Given the description of an element on the screen output the (x, y) to click on. 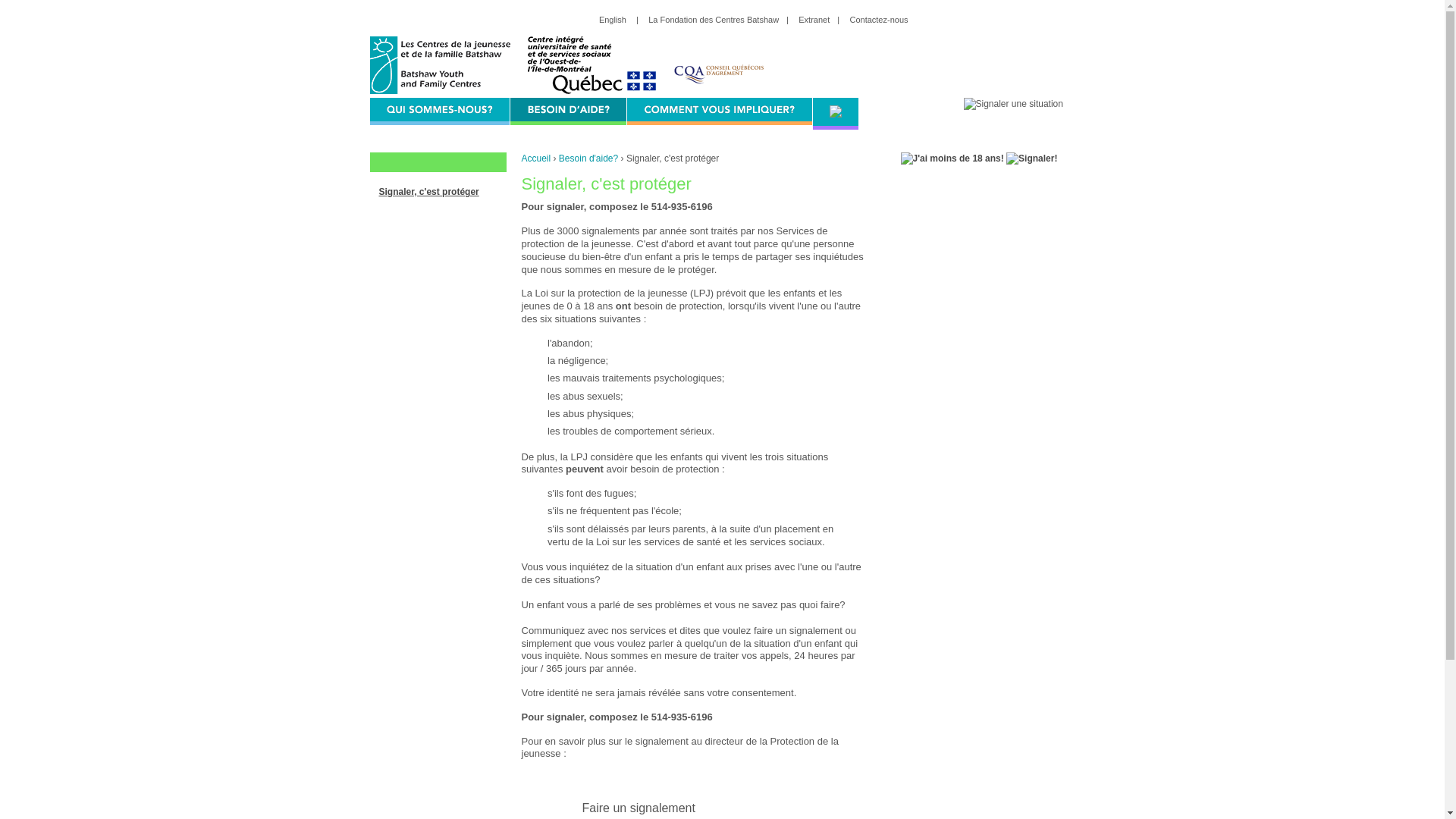
Comment vous impliquer? Element type: hover (718, 109)
Contactez-nous Element type: text (882, 19)
Emplois et stages Element type: hover (835, 111)
Besoin d'aide? Element type: hover (567, 109)
La Fondation des Centres Batshaw Element type: text (717, 19)
Qui sommes-nous? Element type: hover (439, 109)
English Element type: text (616, 19)
Besoin d'aide? Element type: text (588, 158)
Extranet Element type: text (817, 19)
Enter the terms you wish to search for Element type: hover (1003, 21)
Accueil Element type: text (536, 158)
